Given the description of an element on the screen output the (x, y) to click on. 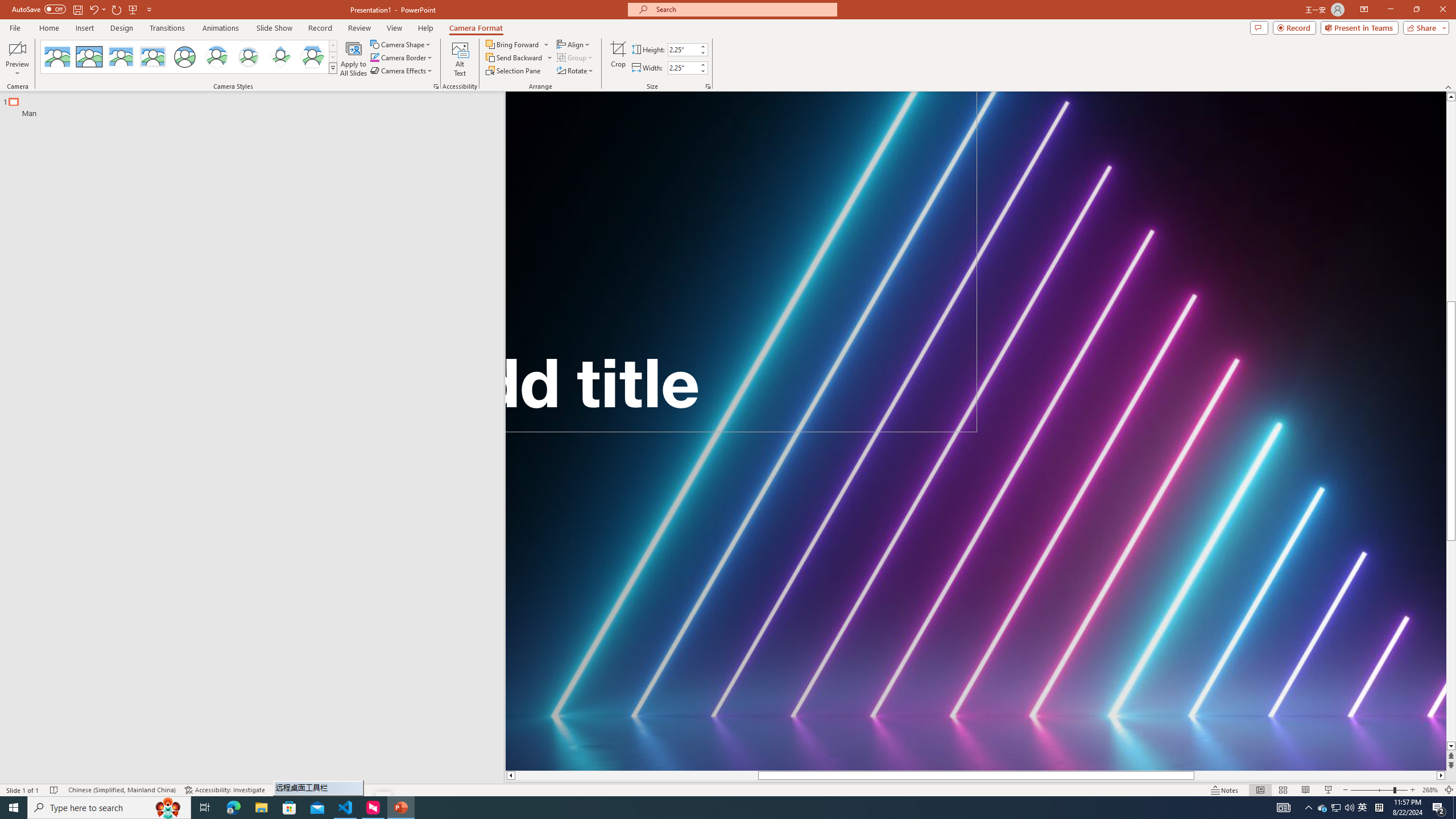
Size and Position... (707, 85)
Simple Frame Circle (184, 56)
Align (574, 44)
